Given the description of an element on the screen output the (x, y) to click on. 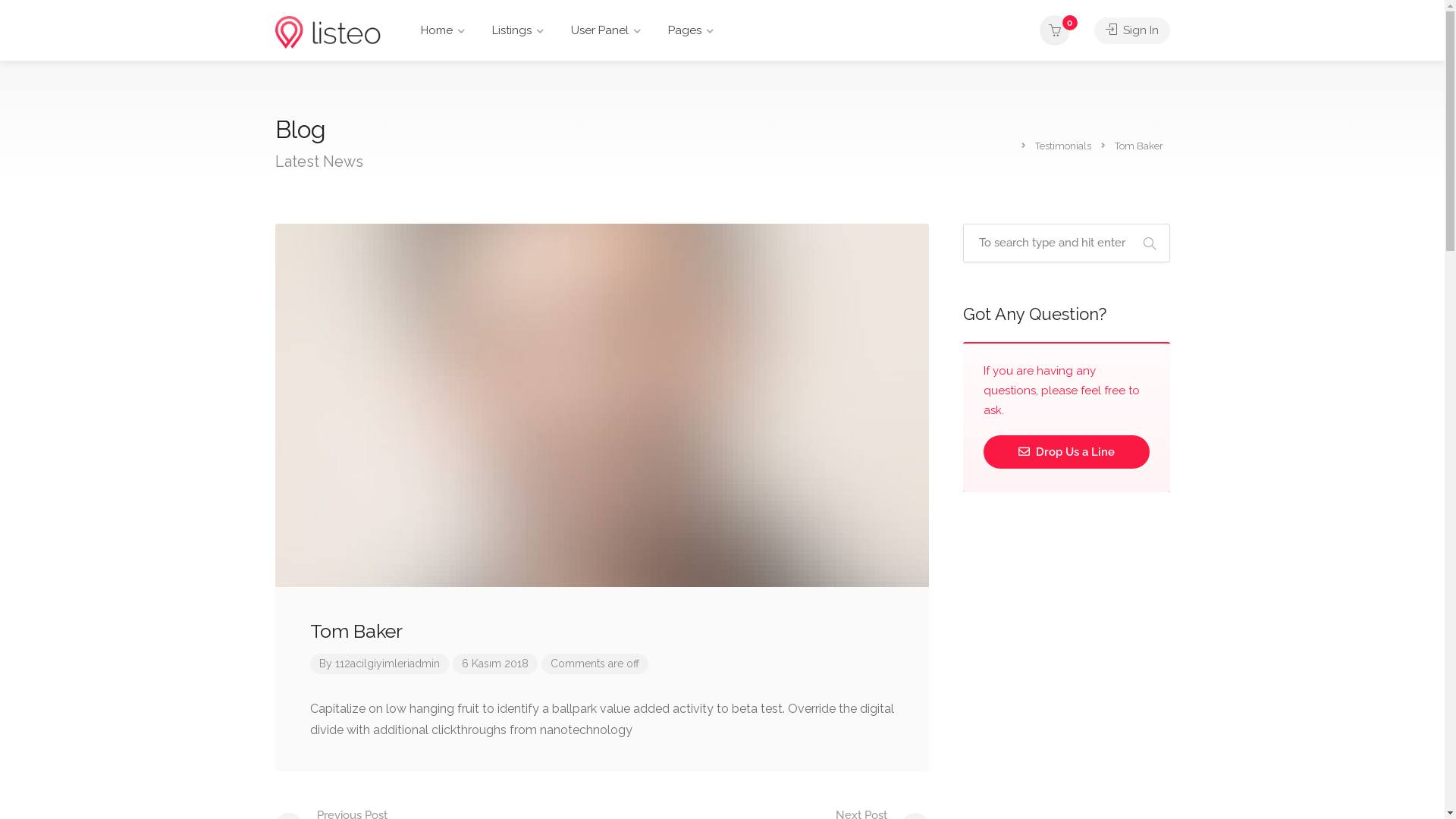
Sign In Element type: text (1131, 30)
Testimonials Element type: text (1063, 144)
User Panel Element type: text (605, 30)
Tom Baker Element type: text (601, 630)
Go to . Element type: hover (1012, 143)
Pages Element type: text (690, 30)
Listings Element type: text (517, 30)
Home Element type: text (442, 30)
112acilgiyimleriadmin Element type: text (387, 663)
Drop Us a Line Element type: text (1066, 451)
